Given the description of an element on the screen output the (x, y) to click on. 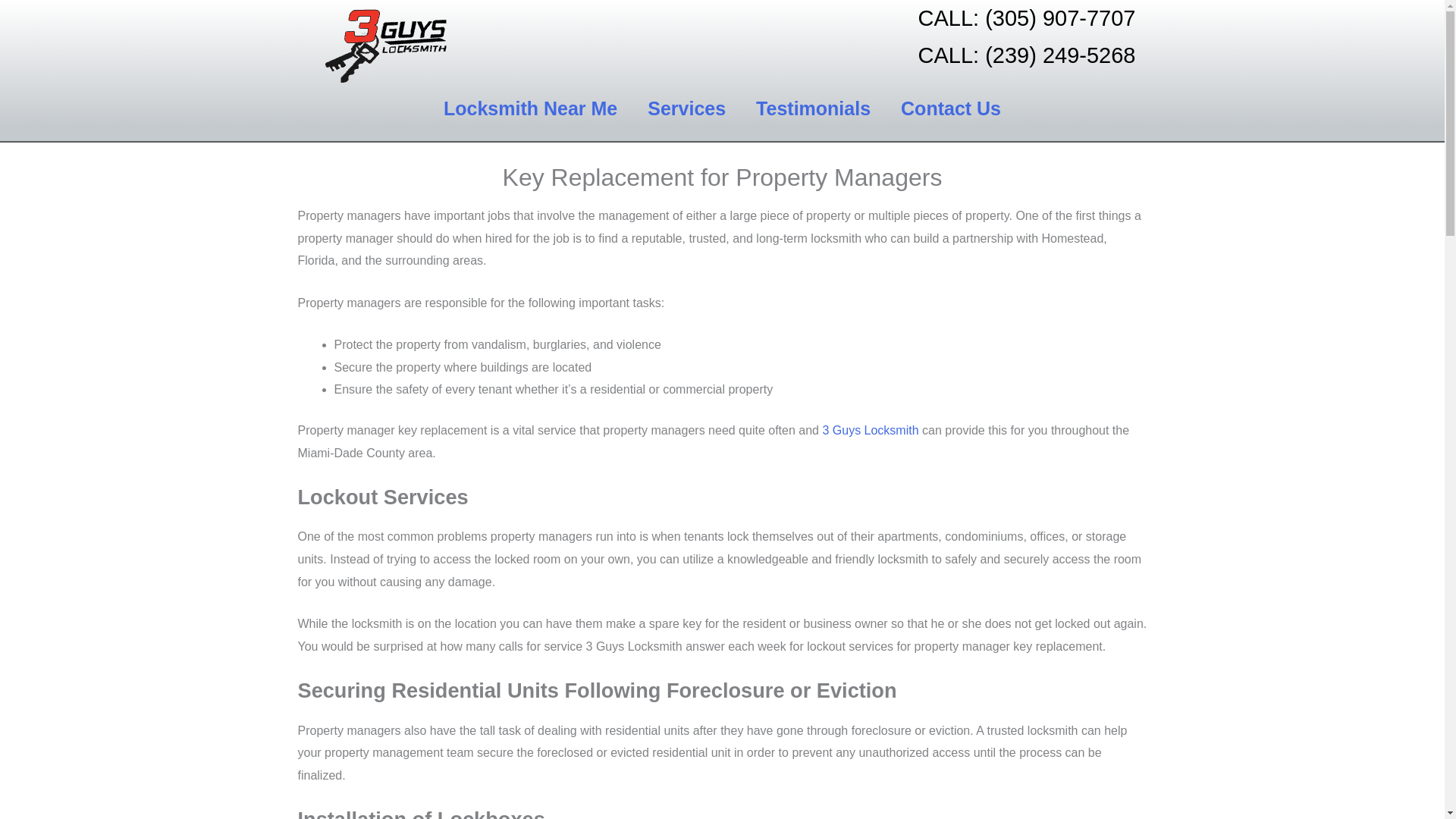
Locksmith Near Me (529, 108)
Contact Us (950, 108)
Services (686, 108)
Testimonials (813, 108)
3 Guys Locksmith (870, 430)
